Given the description of an element on the screen output the (x, y) to click on. 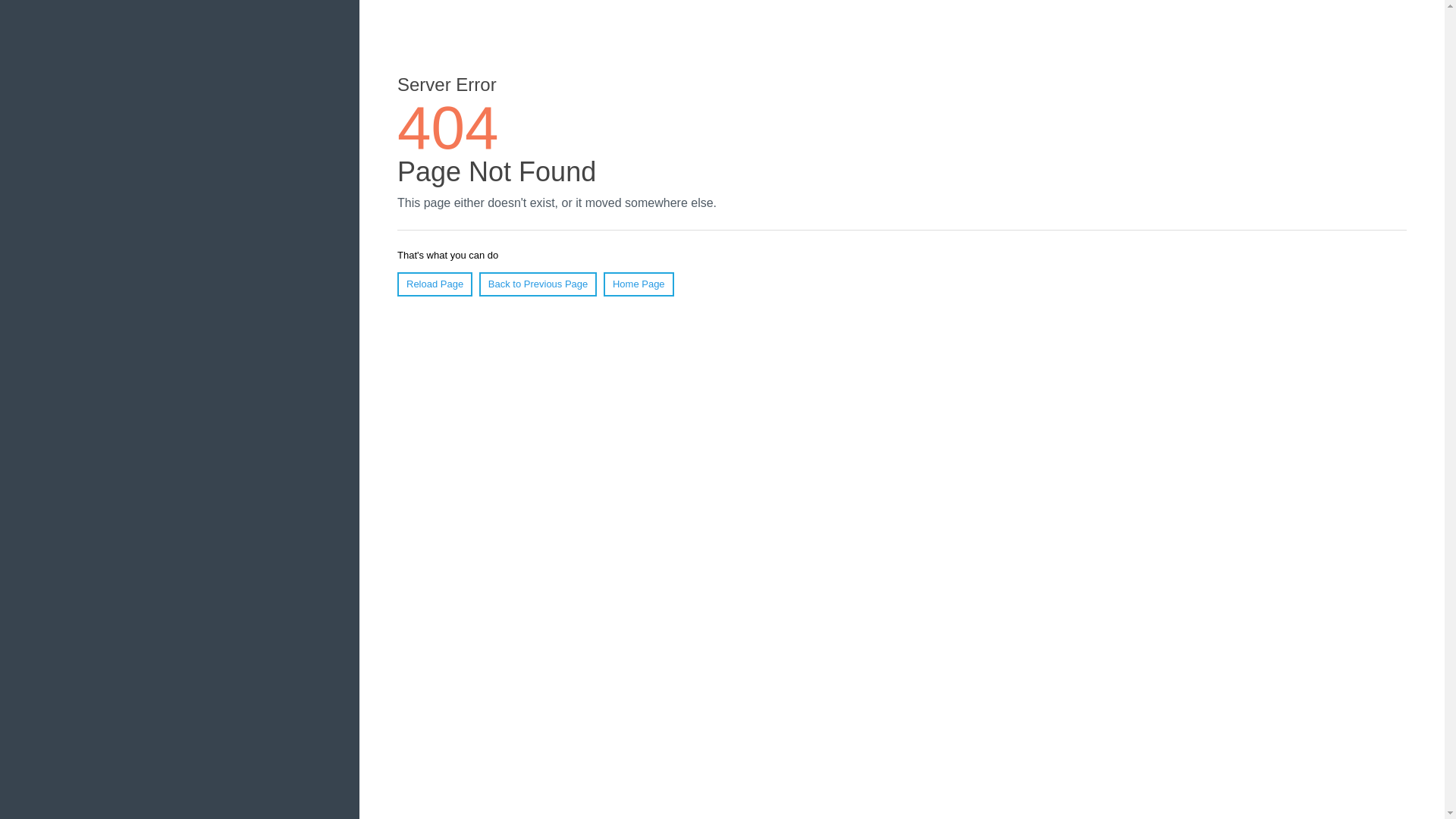
Home Page Element type: text (638, 284)
Reload Page Element type: text (434, 284)
Back to Previous Page Element type: text (538, 284)
